Given the description of an element on the screen output the (x, y) to click on. 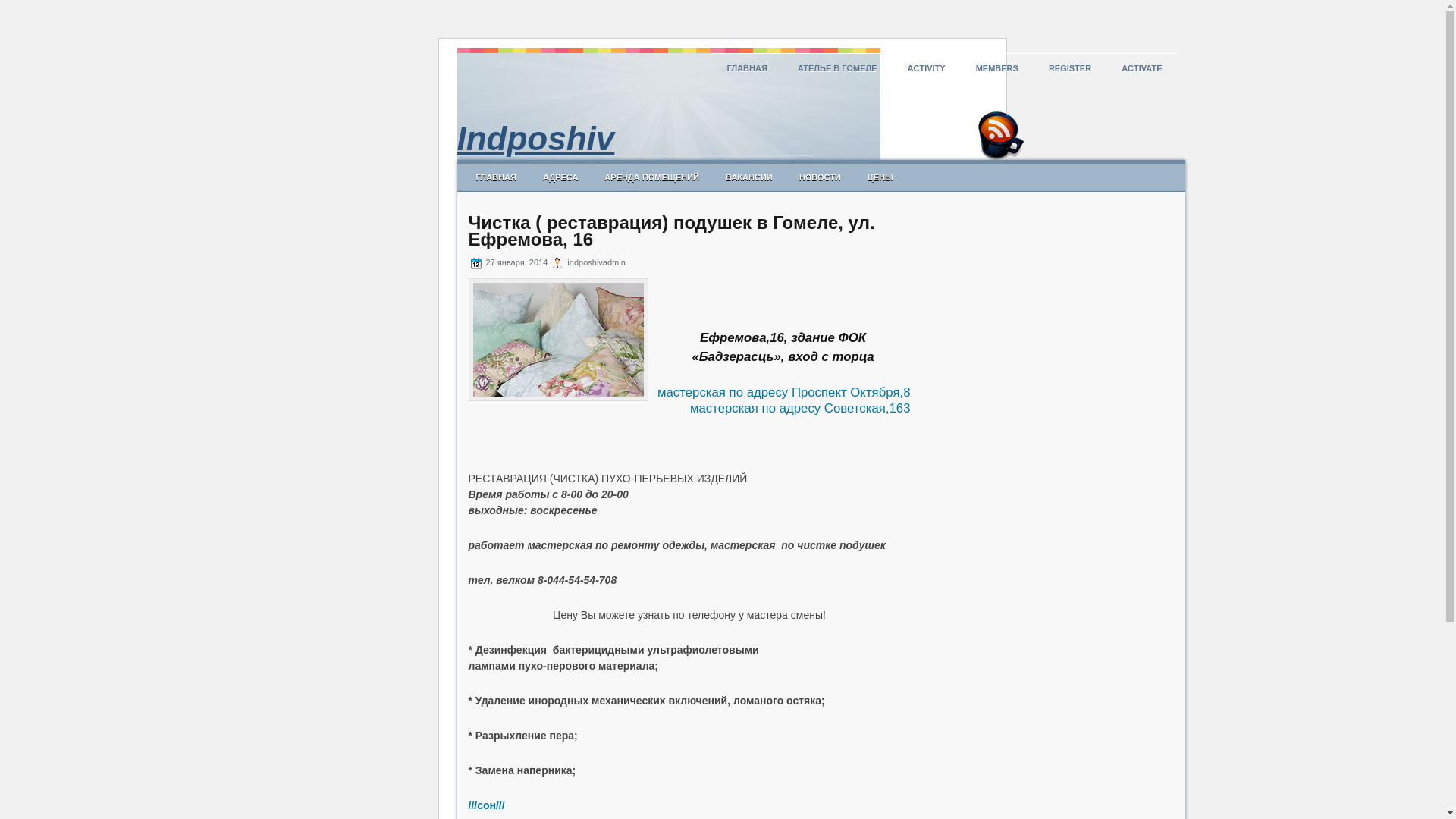
ACTIVATE Element type: text (1141, 68)
MEMBERS Element type: text (996, 68)
Indposhiv Element type: text (535, 137)
ACTIVITY Element type: text (926, 68)
REGISTER Element type: text (1069, 68)
